Given the description of an element on the screen output the (x, y) to click on. 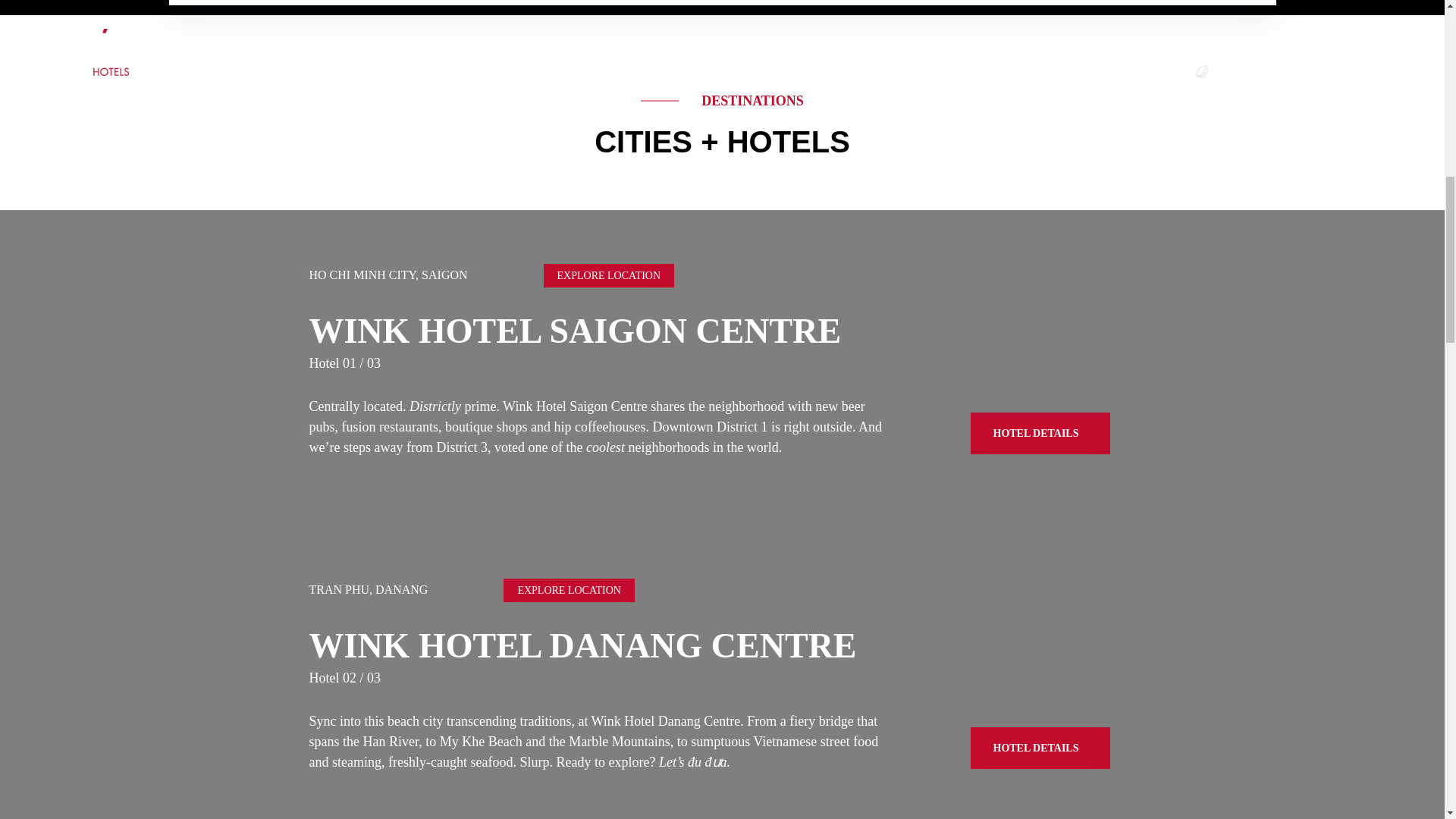
HOTEL DETAILS (1040, 748)
EXPLORE LOCATION (568, 589)
EXPLORE LOCATION (609, 275)
HOTEL DETAILS (1040, 433)
